Given the description of an element on the screen output the (x, y) to click on. 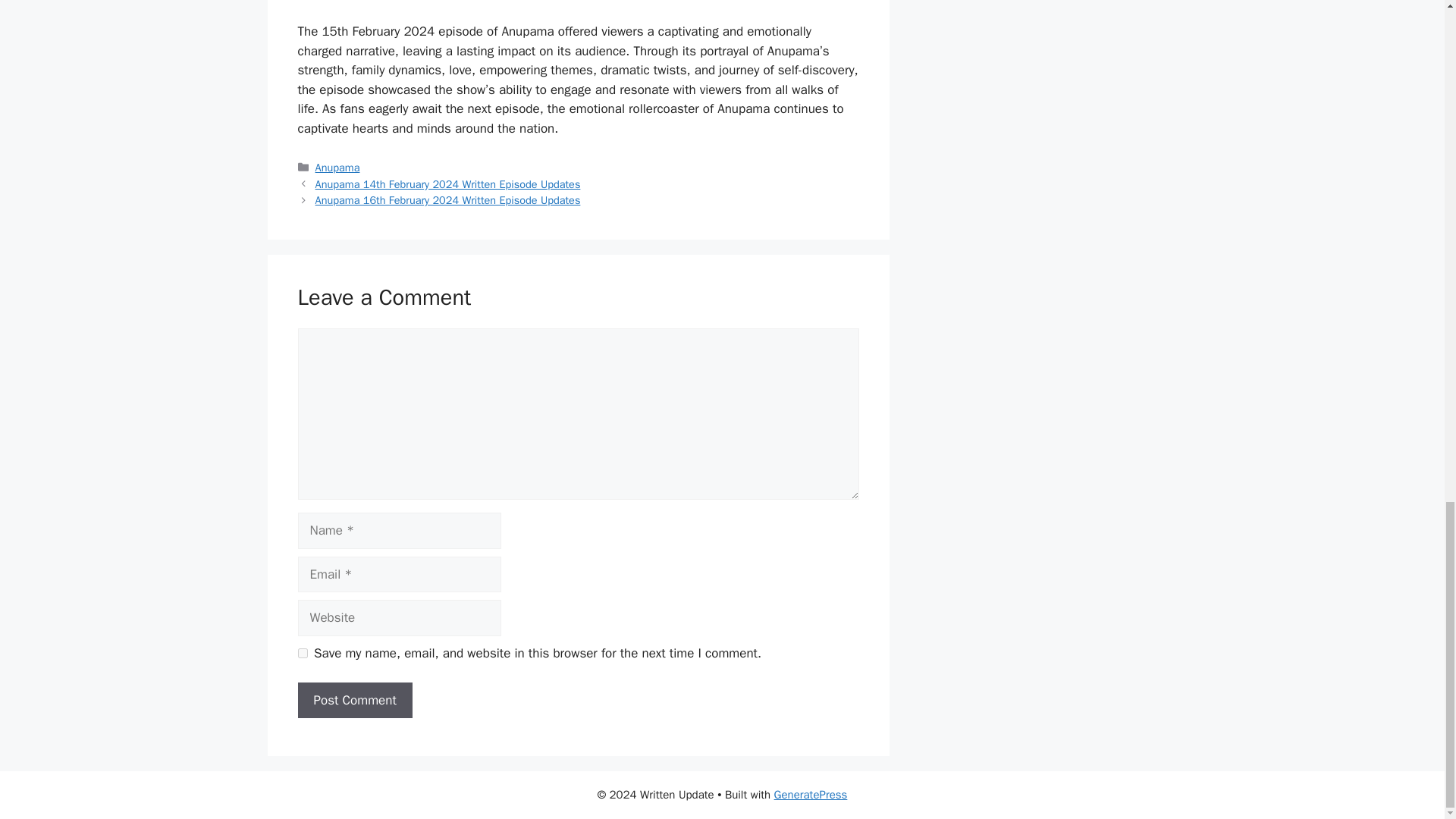
Anupama (337, 167)
Post Comment (354, 700)
GeneratePress (810, 794)
Anupama 14th February 2024 Written Episode Updates (447, 183)
Post Comment (354, 700)
Anupama 16th February 2024 Written Episode Updates (447, 200)
yes (302, 653)
